Given the description of an element on the screen output the (x, y) to click on. 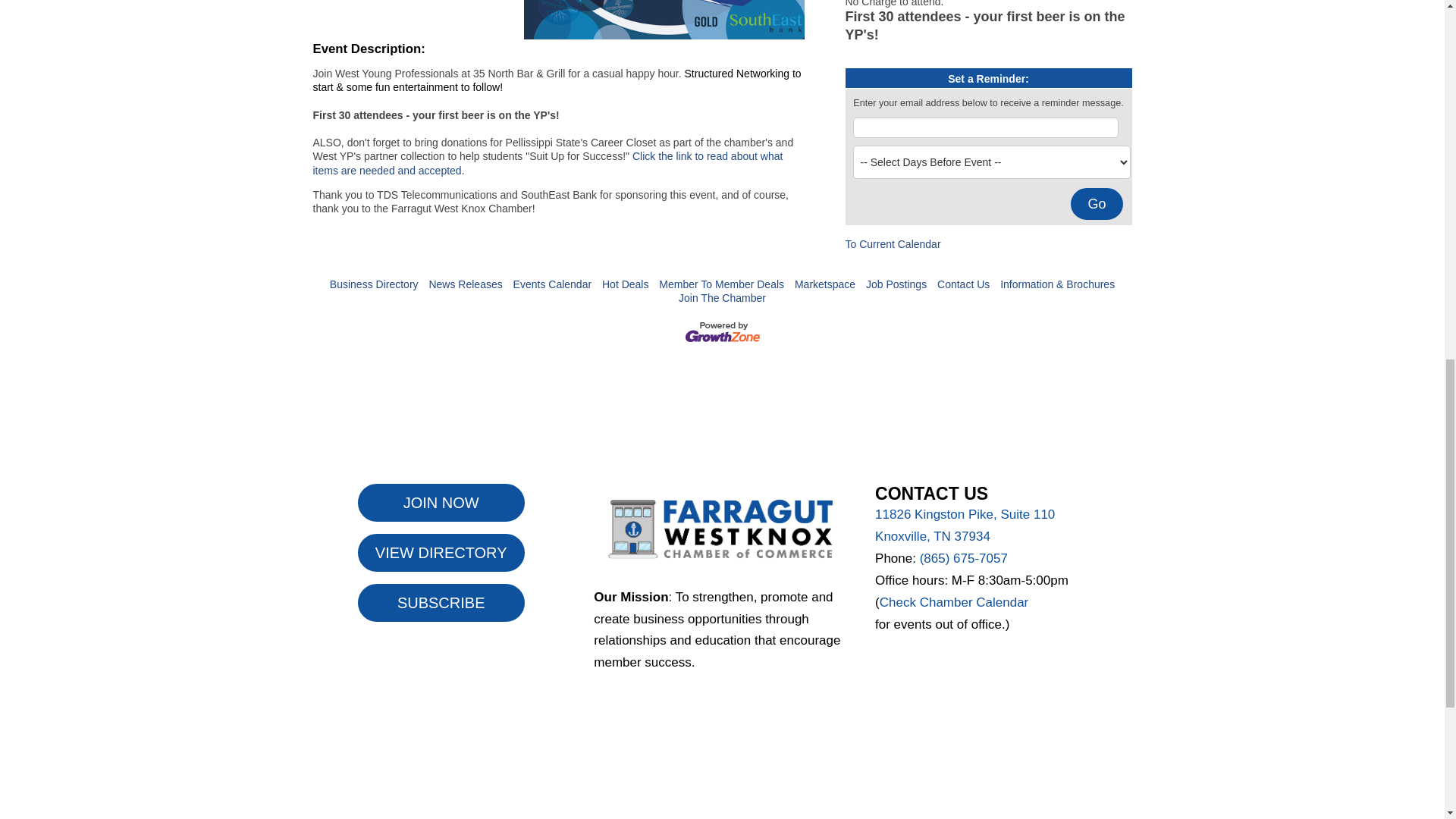
Follow on Instagram (721, 698)
Enter Email Address (984, 127)
Follow on LinkedIn (751, 698)
Follow on Facebook (691, 698)
Go (1096, 204)
